Given the description of an element on the screen output the (x, y) to click on. 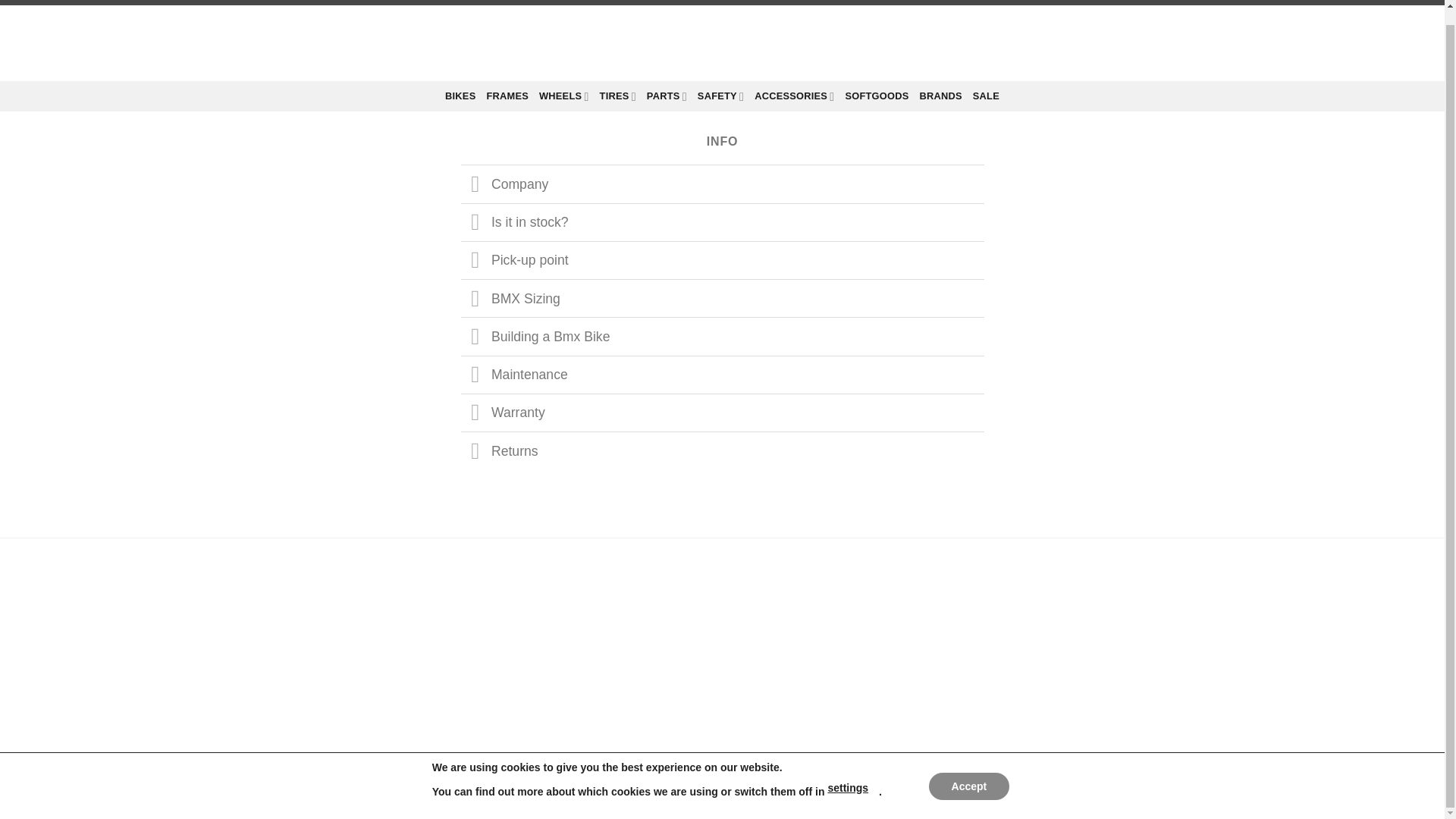
Suomi (1097, 2)
PARTS (666, 96)
Suomi (1097, 2)
Search (579, 43)
Cart (1090, 43)
TIRES (617, 96)
WHEELS (563, 96)
Signature Bmx - Bmx-kauppa (722, 42)
FRAMES (507, 96)
BIKES (460, 96)
Follow on YouTube (1006, 721)
Follow on Instagram (978, 721)
Follow on Facebook (951, 721)
